Given the description of an element on the screen output the (x, y) to click on. 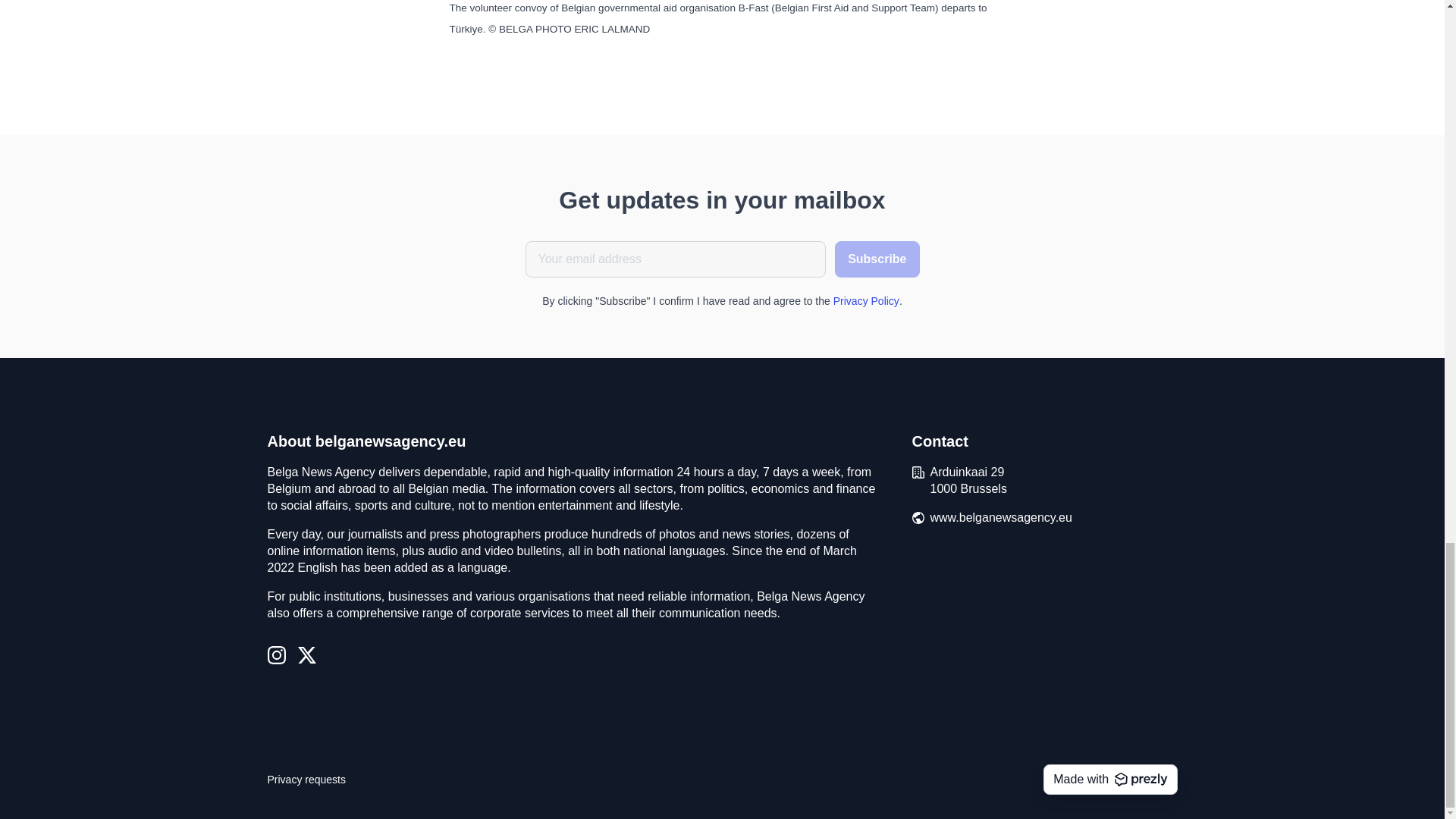
Subscribe (876, 258)
Privacy requests (305, 779)
Privacy Policy (865, 300)
www.belganewsagency.eu (1000, 517)
Made with (1109, 779)
